Given the description of an element on the screen output the (x, y) to click on. 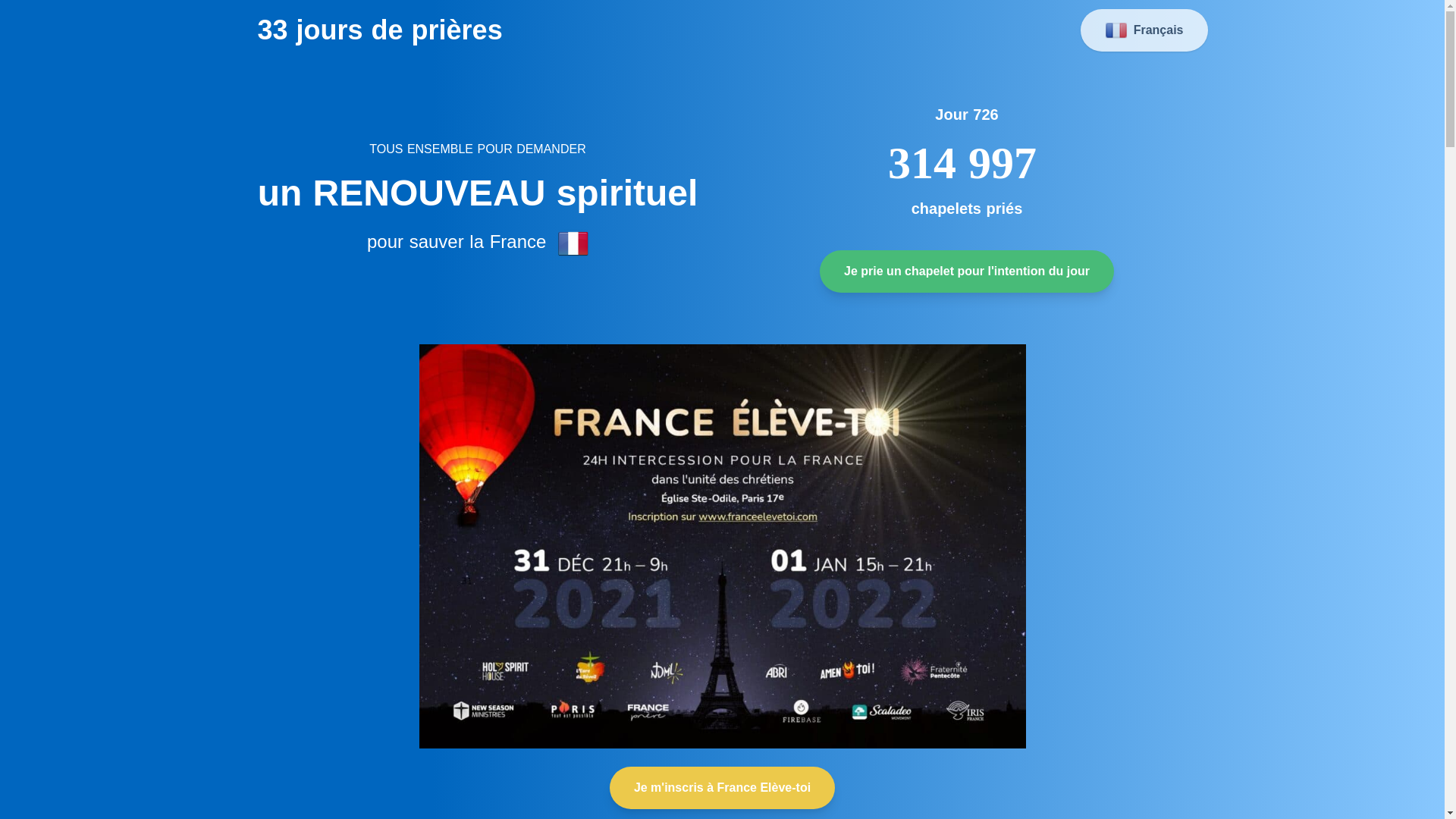
Je prie un chapelet pour l'intention du jour Element type: text (966, 271)
